Given the description of an element on the screen output the (x, y) to click on. 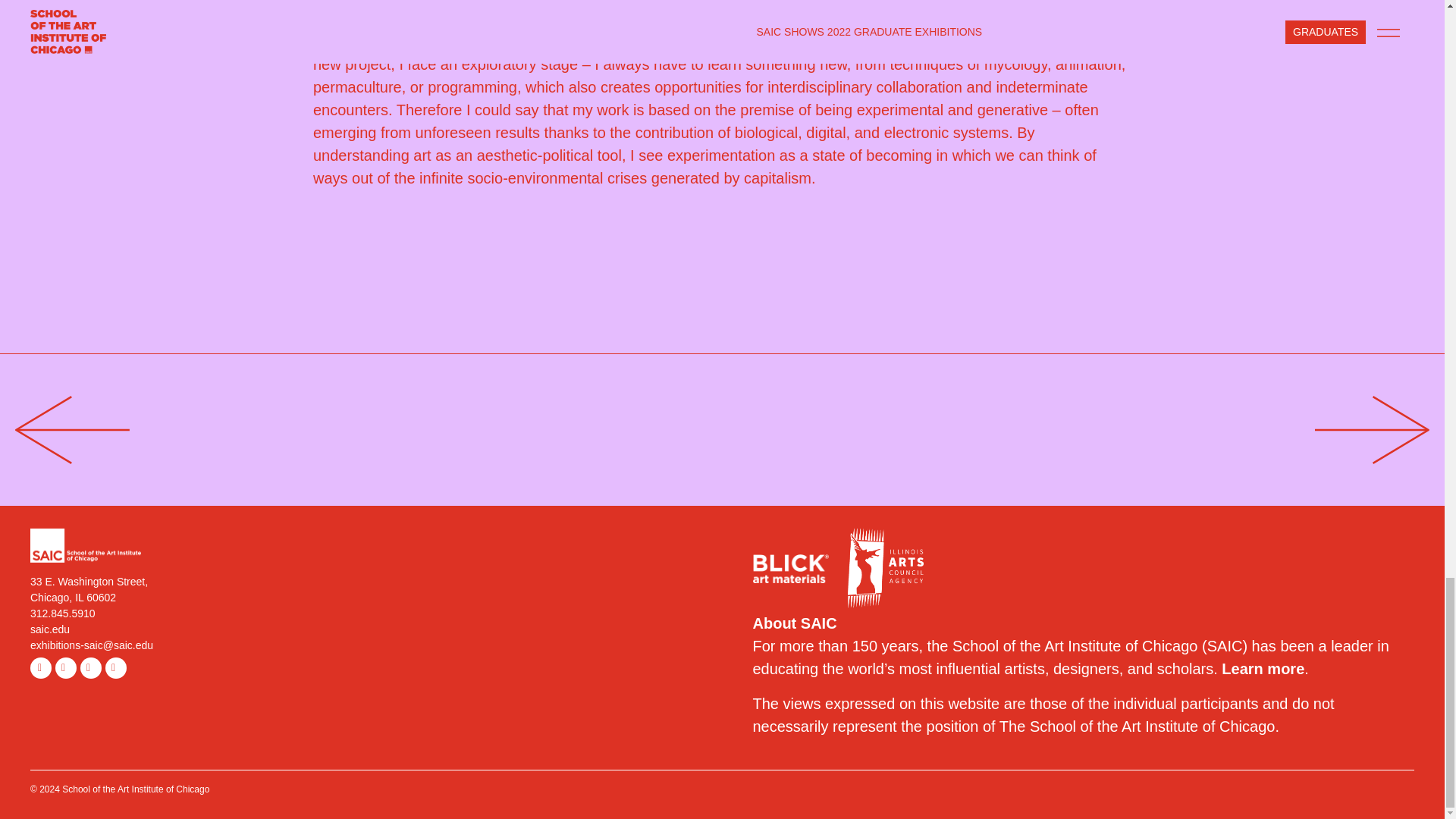
saic.edu (49, 629)
Learn more (1262, 668)
